Given the description of an element on the screen output the (x, y) to click on. 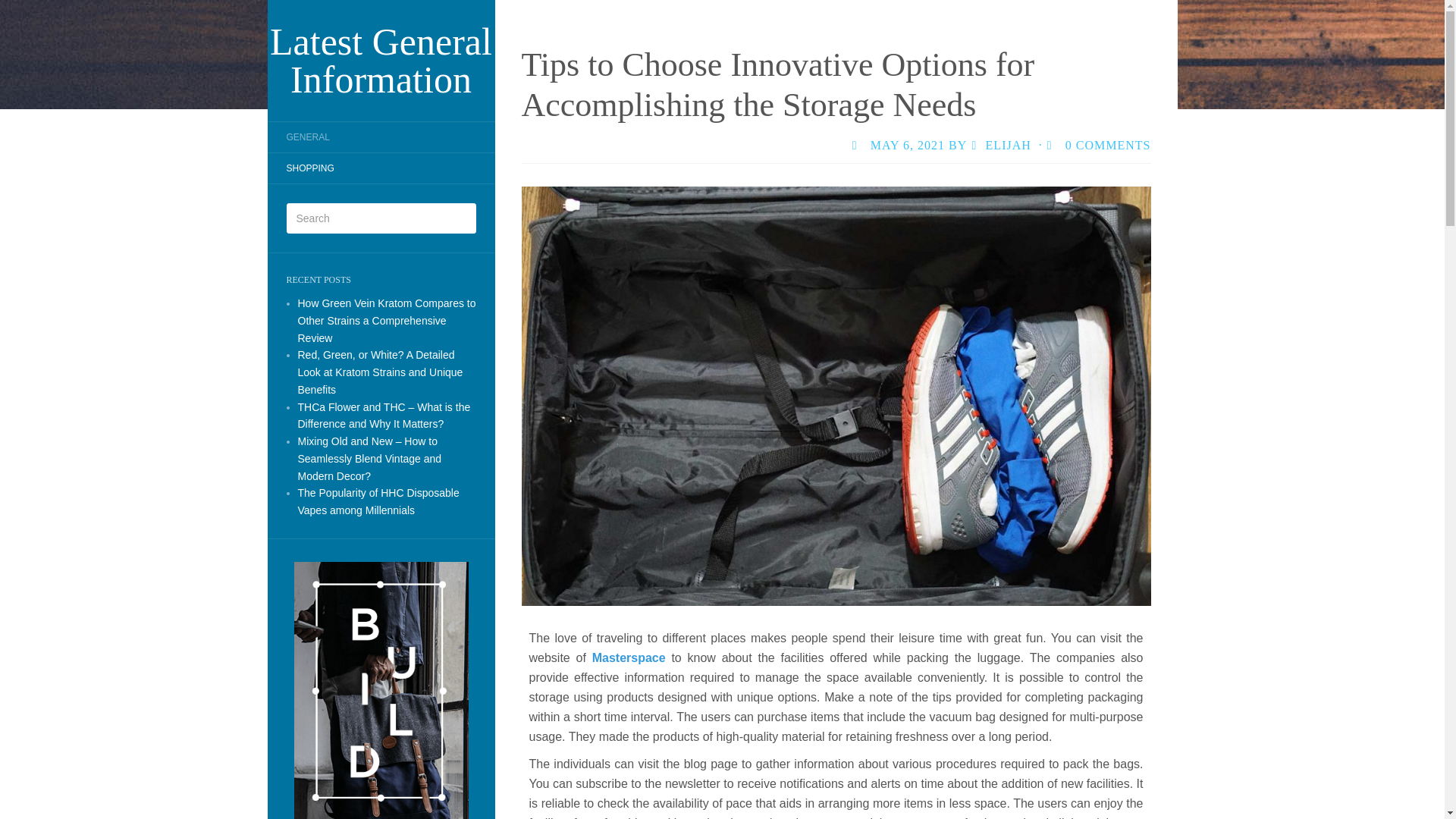
GENERAL (306, 136)
The Popularity of HHC Disposable Vapes among Millennials (377, 501)
Latest General Information (380, 60)
SHOPPING (309, 167)
Latest General Information (380, 60)
Search (22, 11)
